Given the description of an element on the screen output the (x, y) to click on. 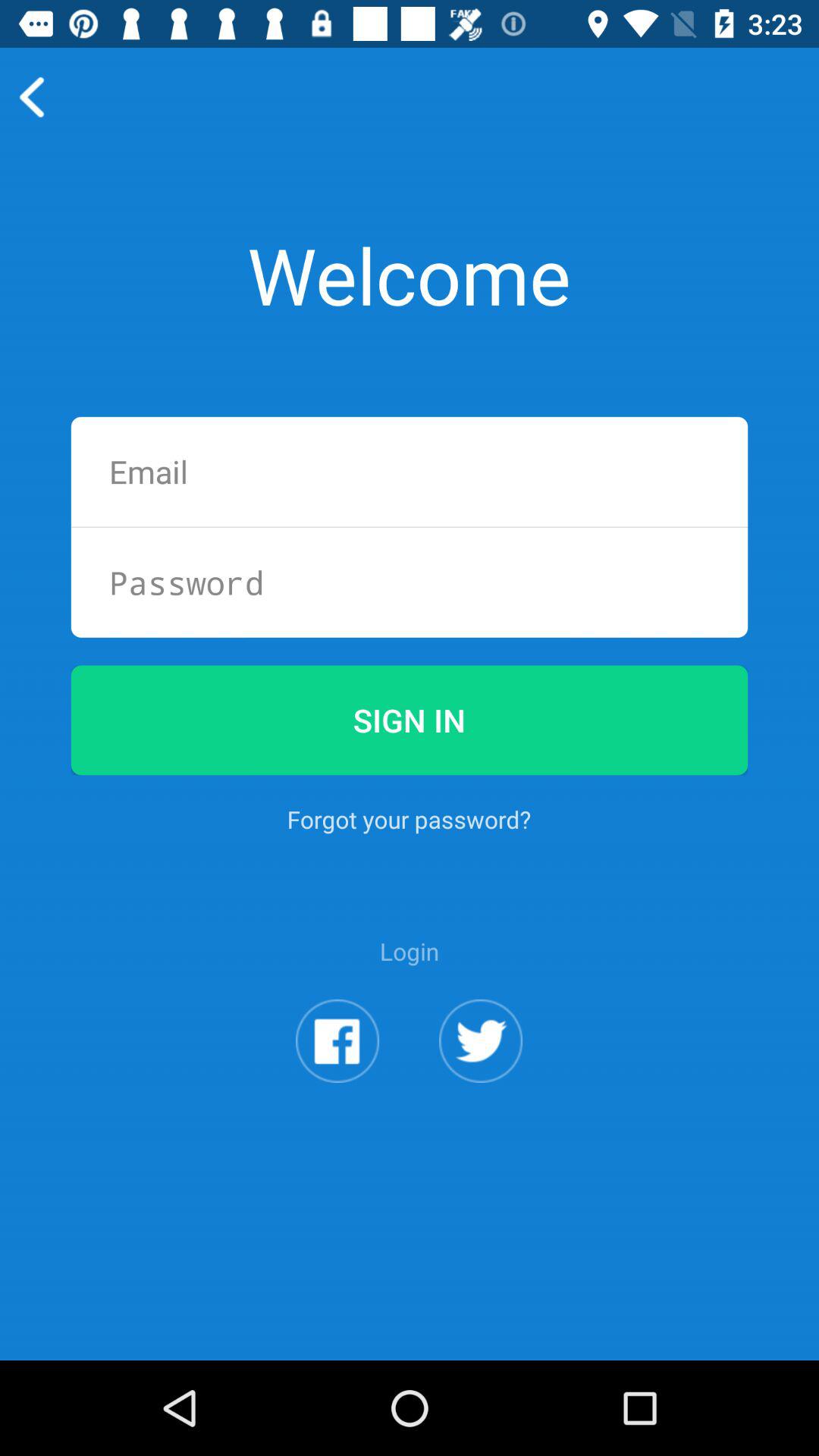
click the icon above login (409, 819)
